Given the description of an element on the screen output the (x, y) to click on. 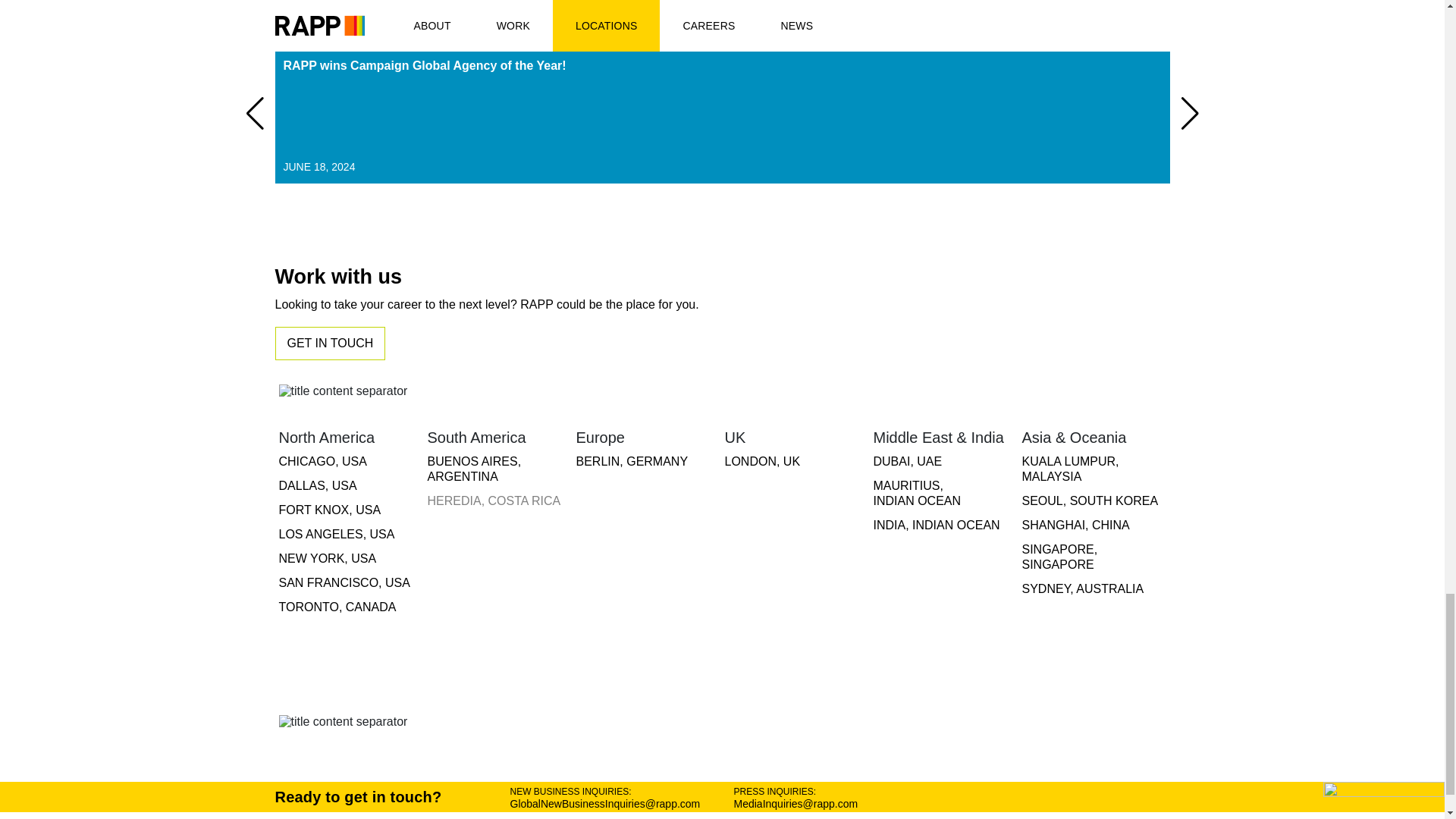
SHANGHAI, CHINA (1092, 529)
SINGAPORE, SINGAPORE (1092, 561)
LOS ANGELES, USA (349, 539)
KUALA LUMPUR, MALAYSIA (1092, 473)
GET IN TOUCH (330, 343)
DALLAS, USA (349, 490)
SYDNEY, AUSTRALIA (1092, 593)
CHICAGO, USA (349, 466)
BUENOS AIRES, ARGENTINA (498, 473)
SEOUL, SOUTH KOREA (722, 116)
DUBAI, UAE (1092, 505)
INDIA, INDIAN OCEAN (943, 466)
TORONTO, CANADA (943, 529)
NEW YORK, USA (349, 611)
